Given the description of an element on the screen output the (x, y) to click on. 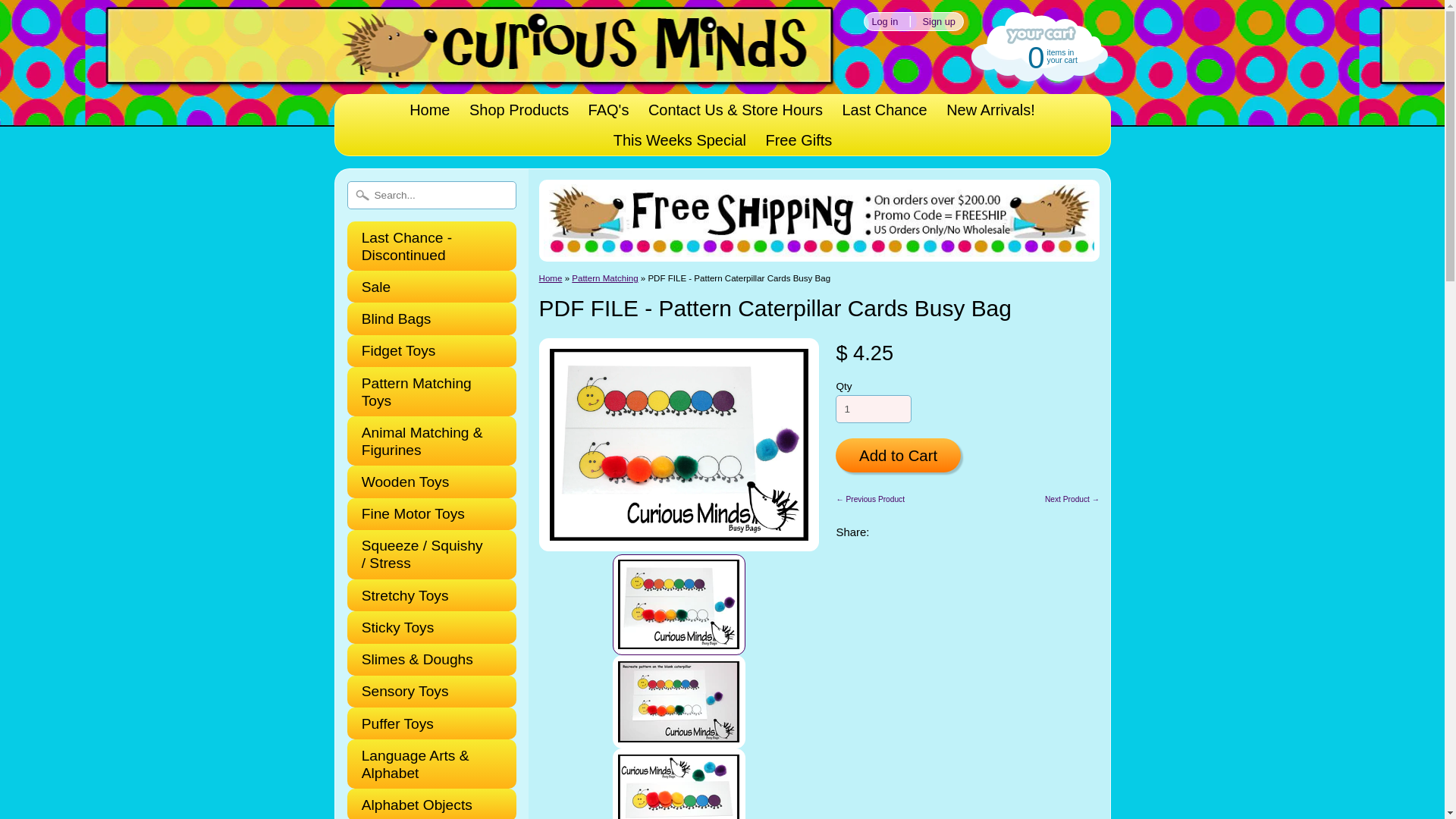
Back to the home page (550, 277)
Wooden Toys (424, 481)
Fidget Toys (424, 350)
1 (873, 408)
Puffer Toys (424, 723)
Log in (884, 21)
Last Chance (1036, 56)
Fine Motor Toys (884, 110)
PDF FILE - Pattern Caterpillar Cards Busy Bag (424, 513)
Stretchy Toys (678, 605)
Free Gifts (424, 595)
PDF FILE - Pattern Caterpillar Cards Busy Bag (798, 140)
This Weeks Special (678, 701)
FAQ's (679, 140)
